Given the description of an element on the screen output the (x, y) to click on. 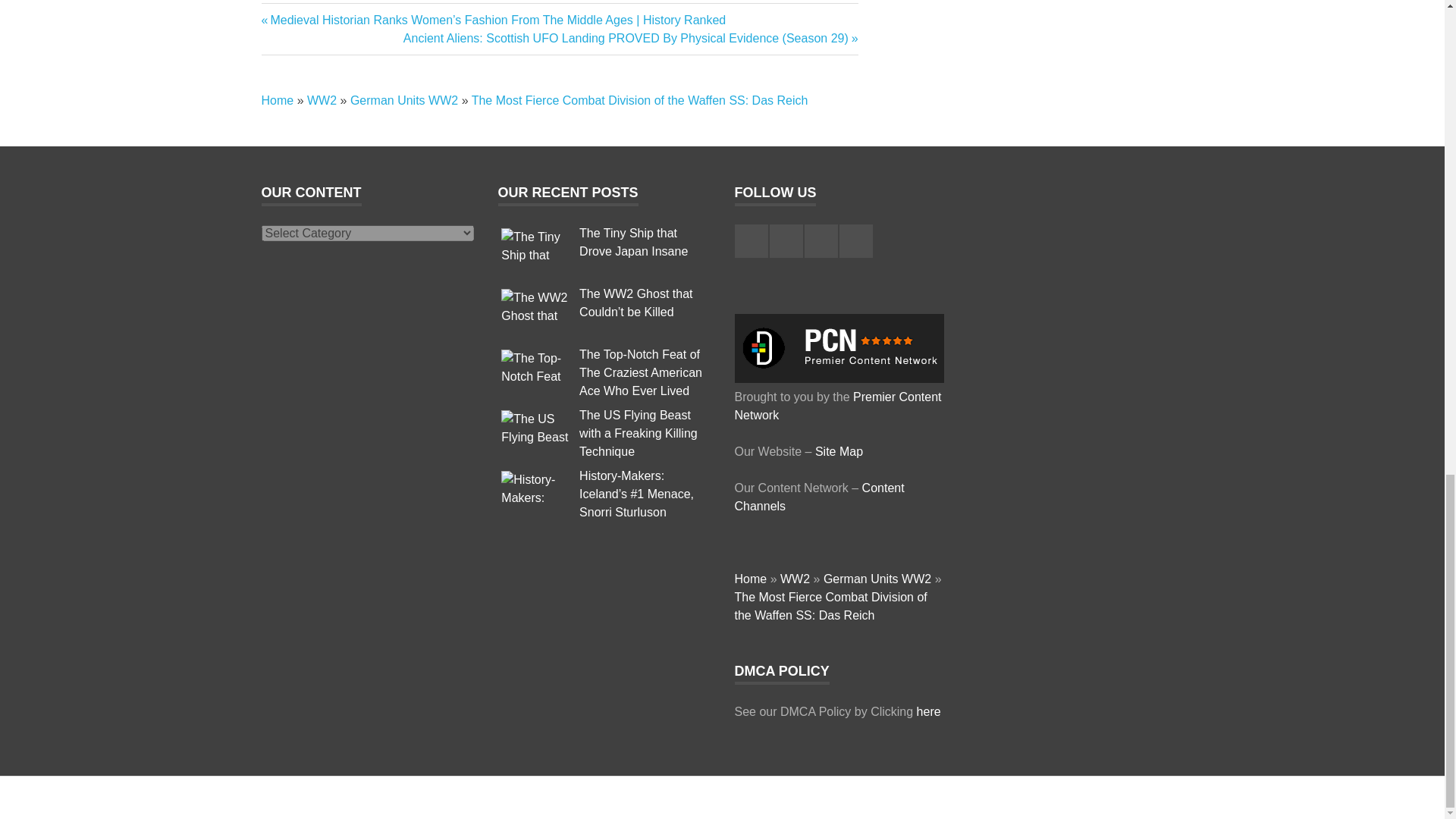
WW2 (321, 100)
German Units WW2 (404, 100)
Home (277, 100)
The Most Fierce Combat Division of the Waffen SS: Das Reich (639, 100)
